Given the description of an element on the screen output the (x, y) to click on. 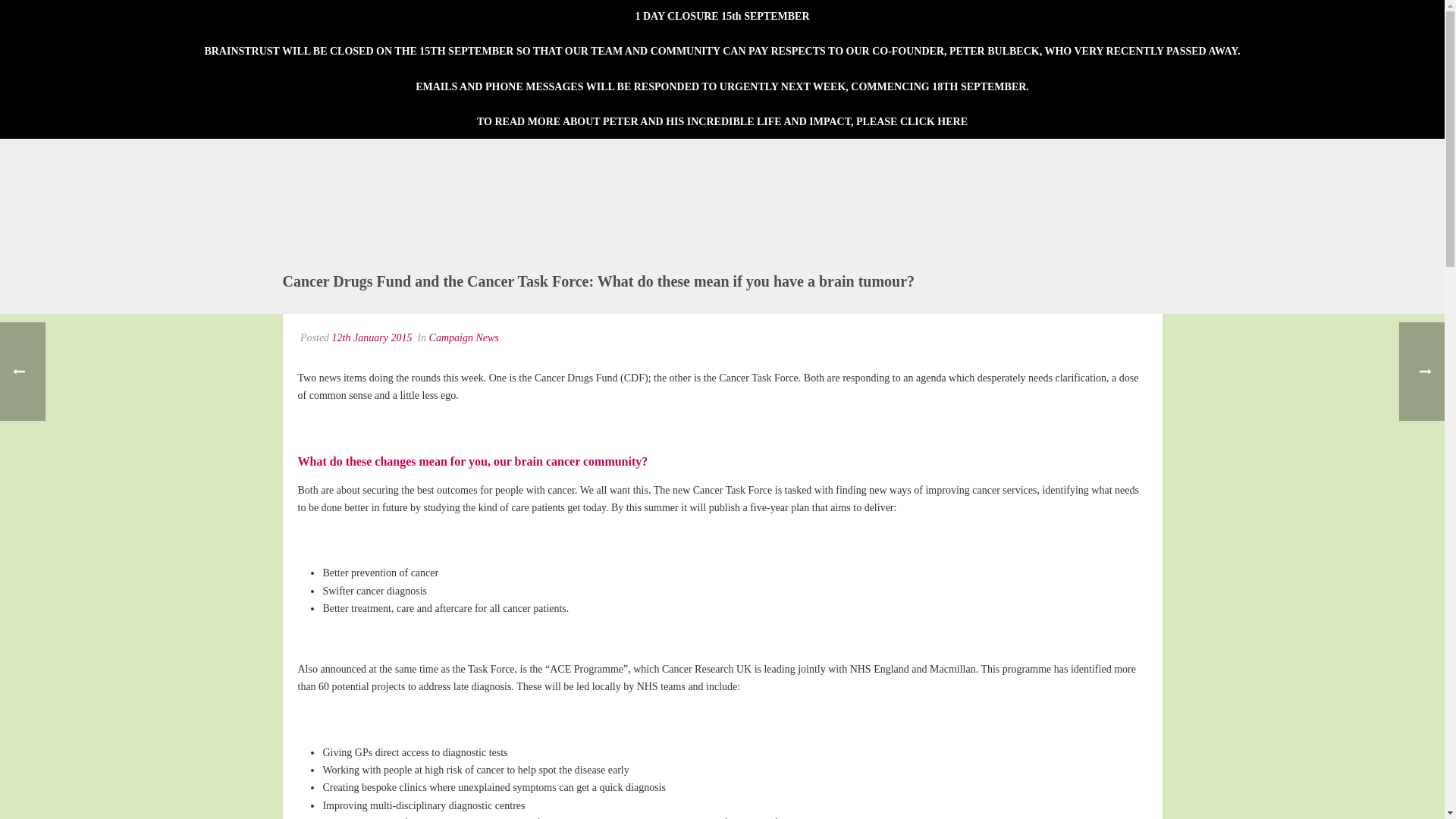
PLEASE CLICK HERE (734, 68)
01983 292 405 (912, 121)
Brain tumour advice and brain tumour help (642, 68)
